Given the description of an element on the screen output the (x, y) to click on. 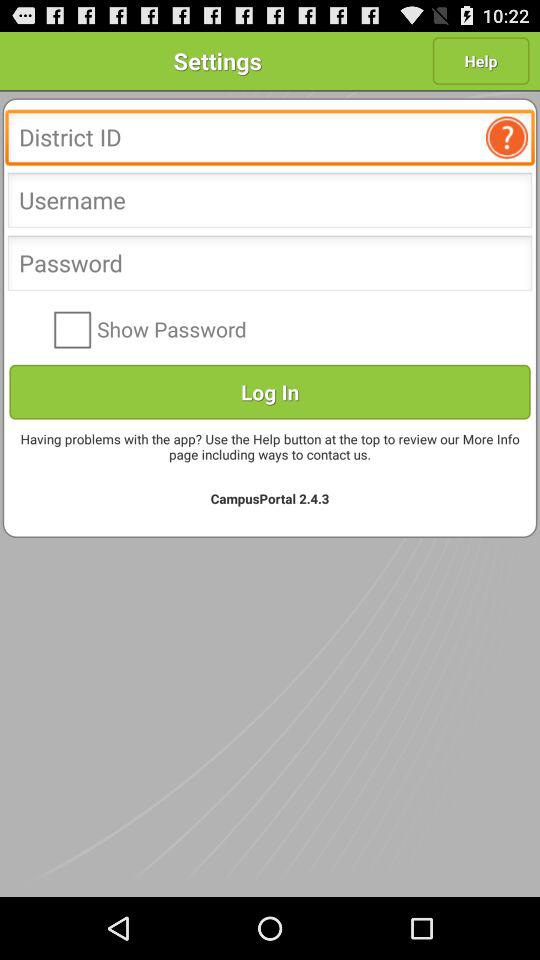
click the log in icon (269, 391)
